Given the description of an element on the screen output the (x, y) to click on. 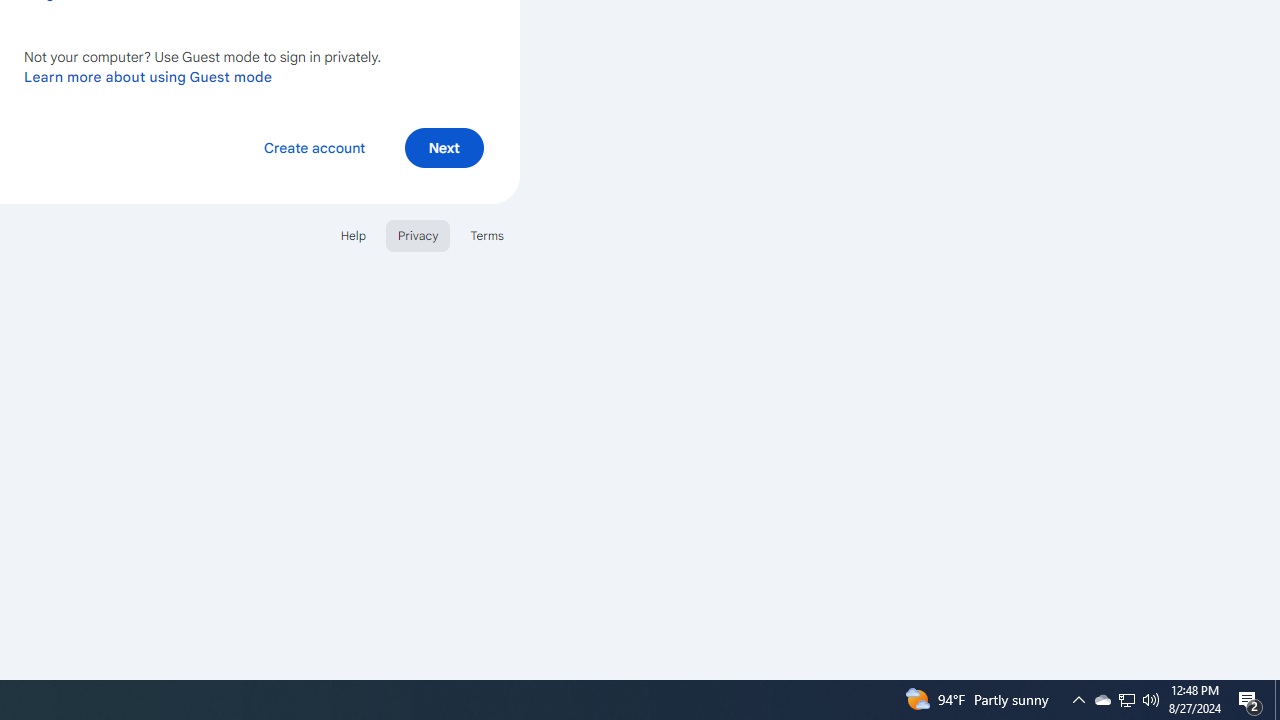
Create account (314, 146)
Learn more about using Guest mode (148, 76)
